Given the description of an element on the screen output the (x, y) to click on. 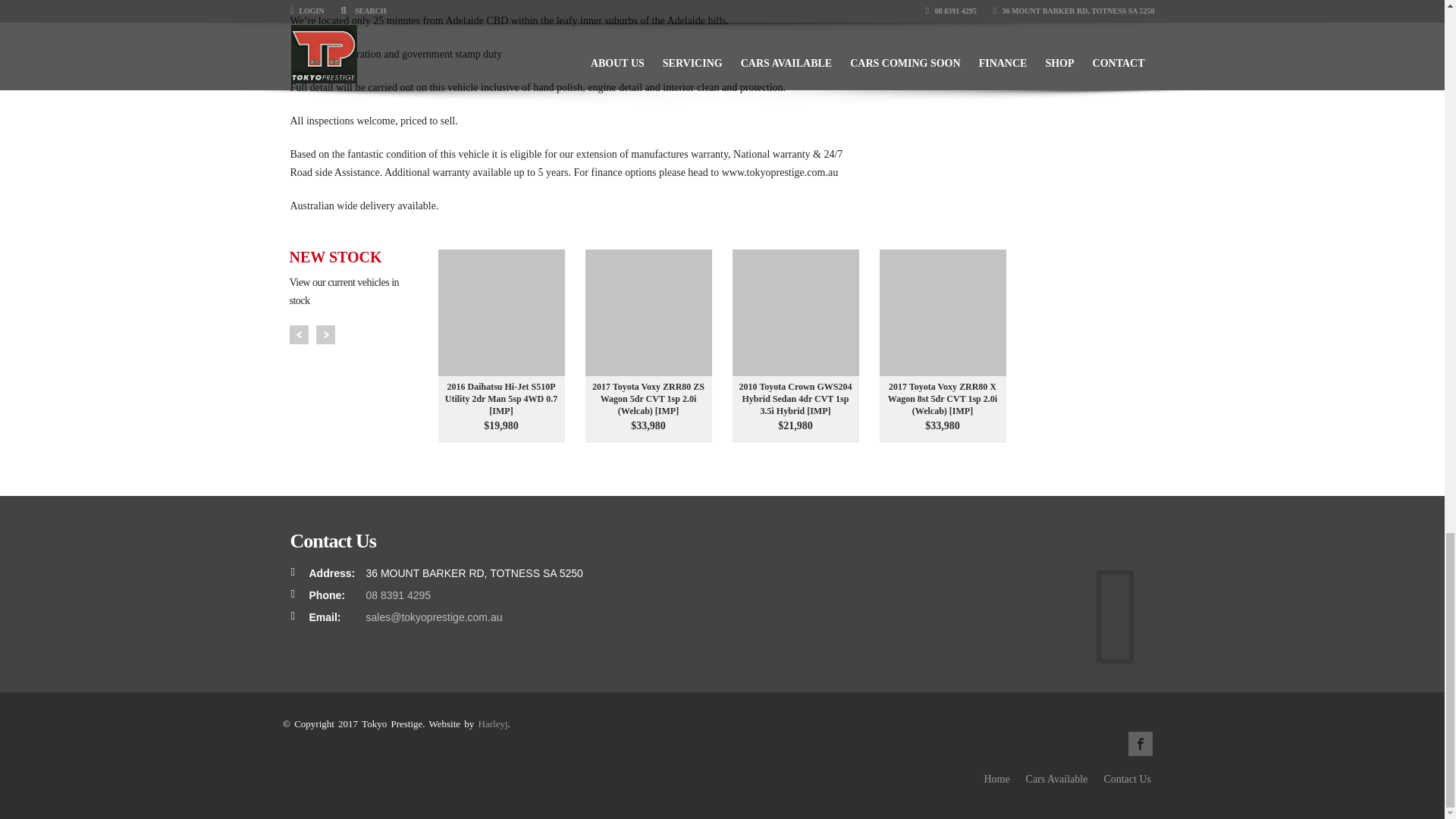
NEW STOCK (358, 256)
Next (324, 334)
Prev (298, 334)
